Given the description of an element on the screen output the (x, y) to click on. 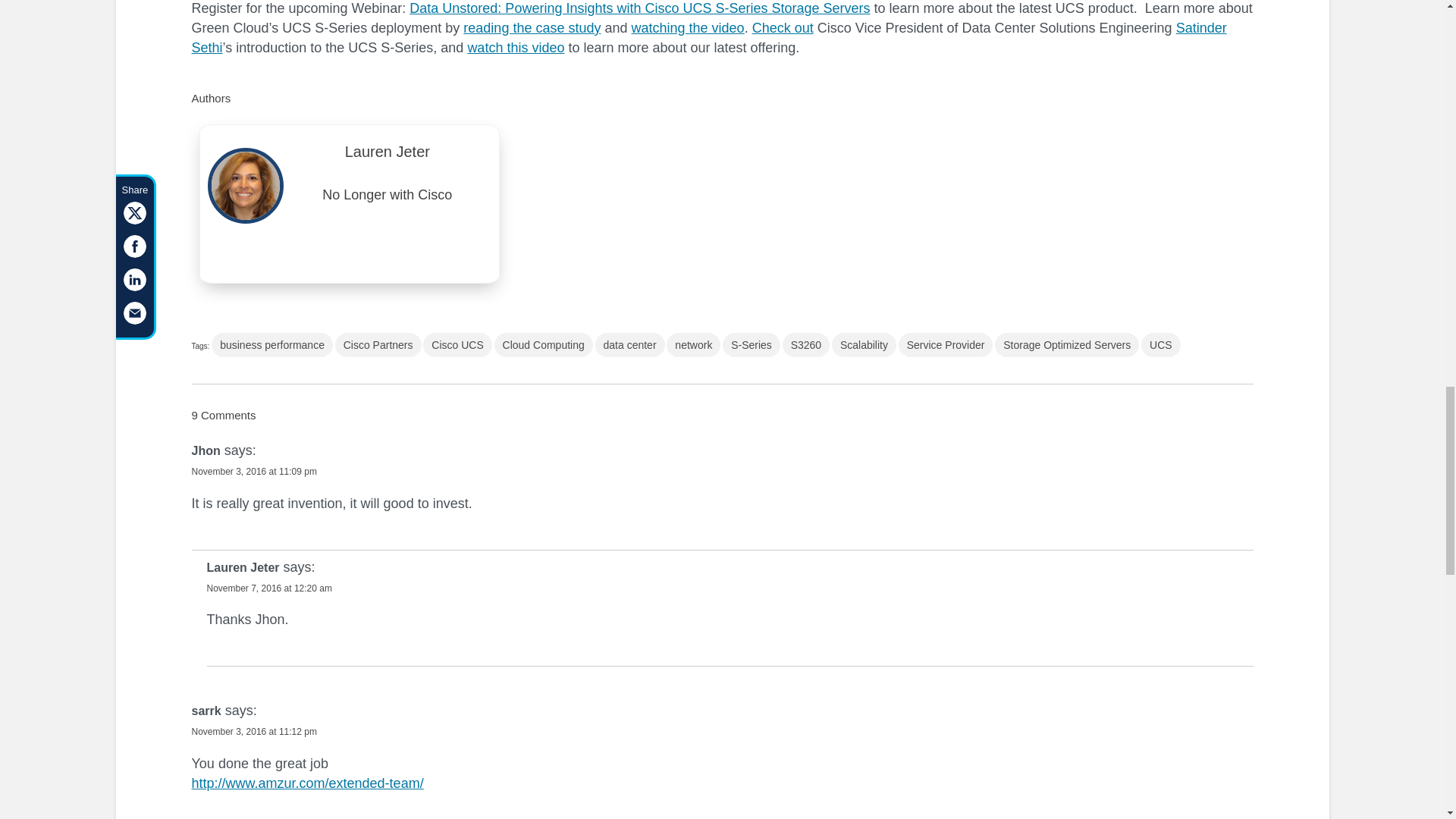
Scalability (863, 344)
reading the case study (531, 28)
Service Provider (945, 344)
Cisco Partners (378, 344)
business performance (272, 344)
network (693, 344)
Cisco UCS (457, 344)
Lauren Jeter (387, 155)
data center (630, 344)
S3260 (806, 344)
